Given the description of an element on the screen output the (x, y) to click on. 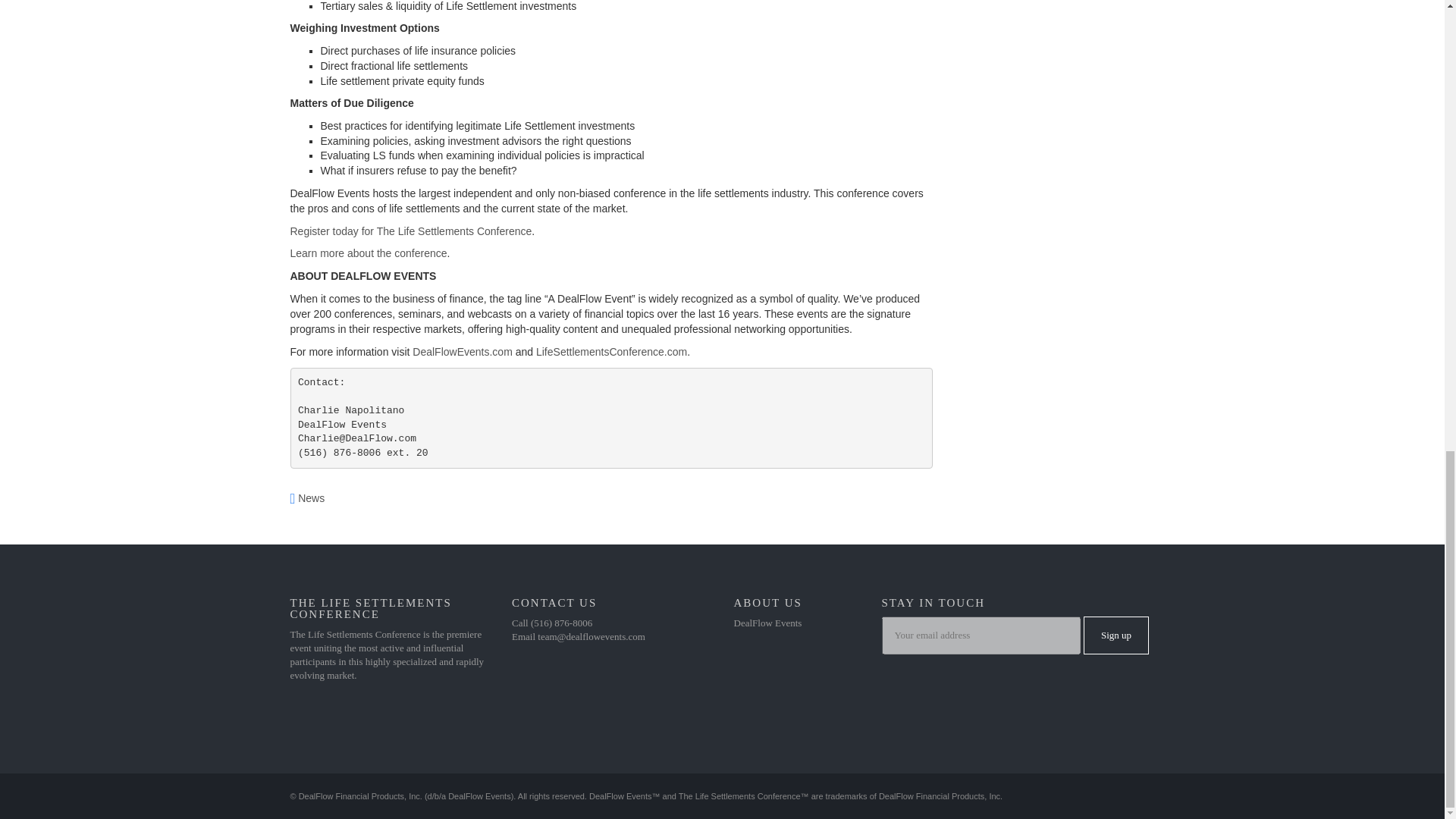
Sign up (1115, 635)
DealFlowEvents.com (462, 351)
Sign up (1115, 635)
LifeSettlementsConference.com (611, 351)
LifeSettlementsConference.com (611, 351)
Register today for The Life Settlements Conference (410, 230)
DealFlow Events (767, 622)
Learn more about the conference (367, 253)
Register today for The Life Settlements Conference (410, 230)
Learn more about the conference (367, 253)
News (311, 498)
DealFlowEvents.com (462, 351)
